Given the description of an element on the screen output the (x, y) to click on. 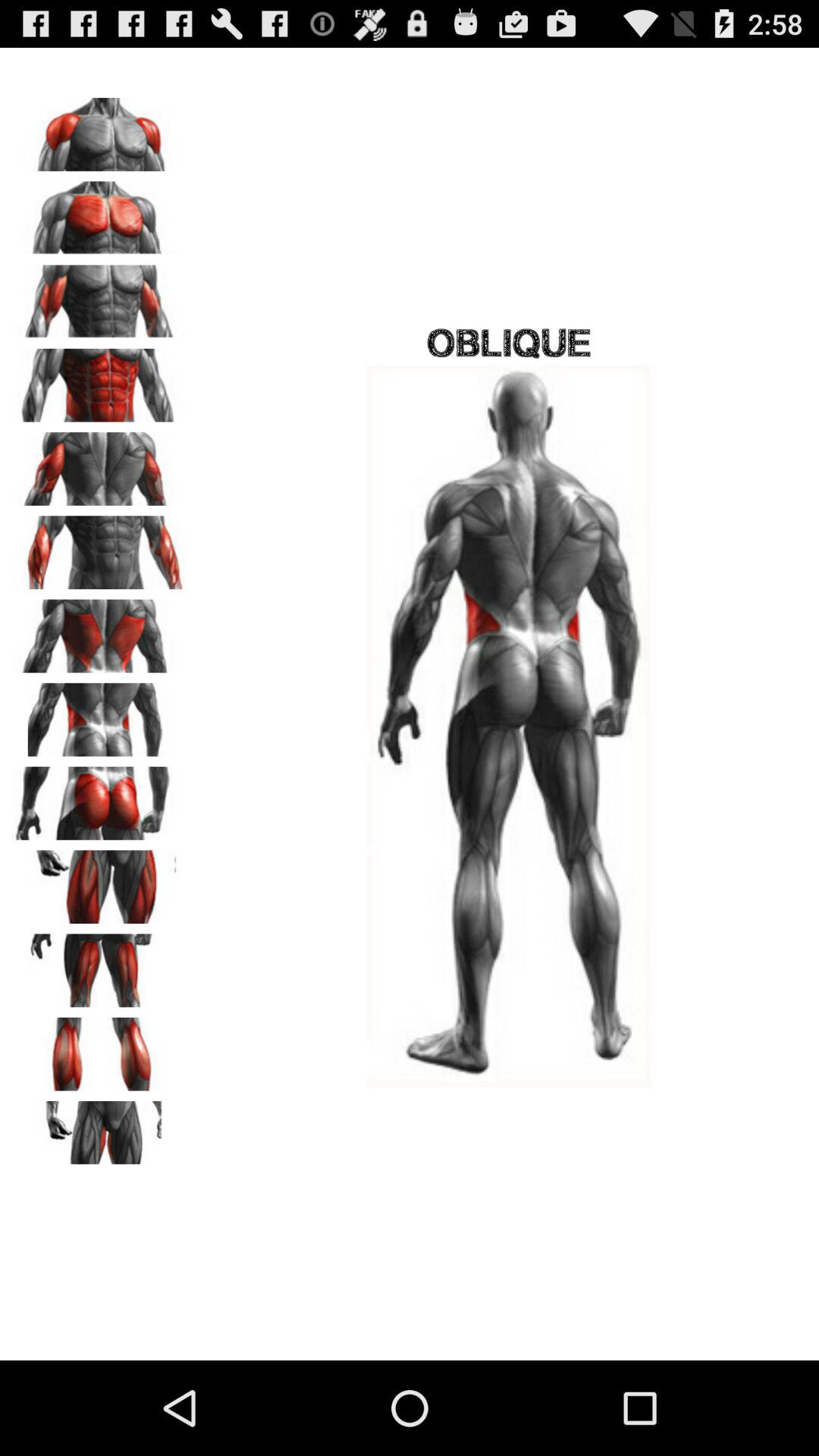
triceps image (99, 463)
